Given the description of an element on the screen output the (x, y) to click on. 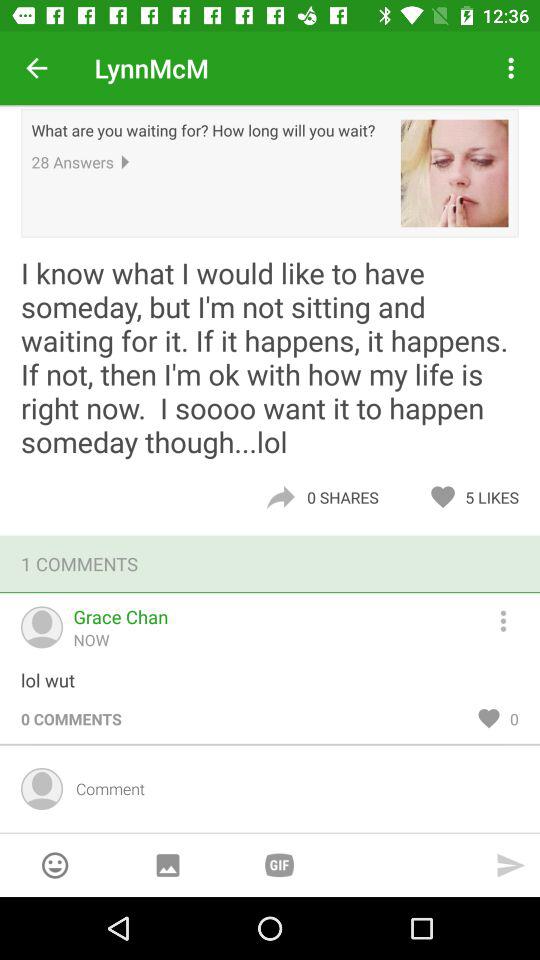
send a picture (167, 865)
